Given the description of an element on the screen output the (x, y) to click on. 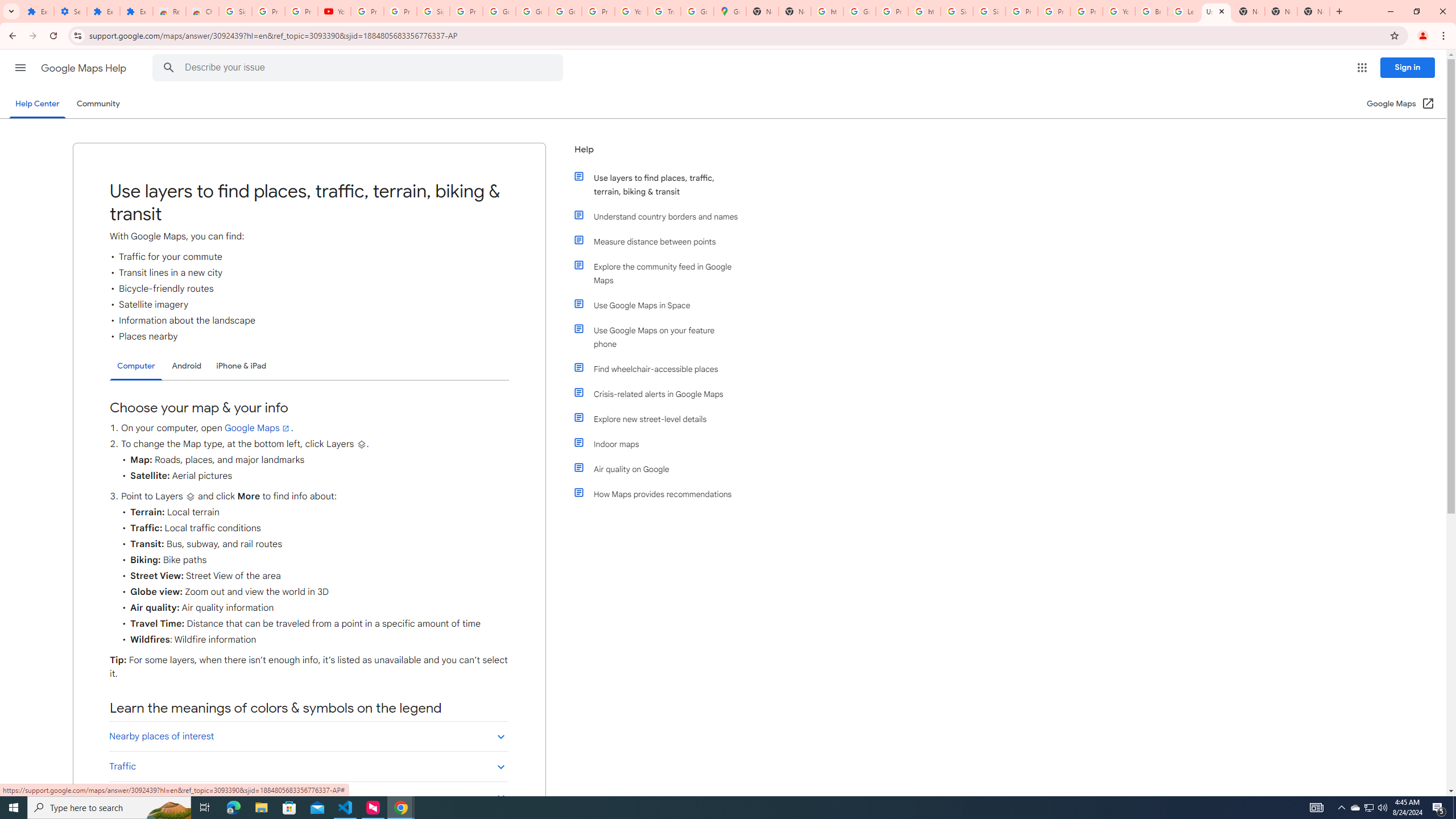
Chrome Web Store - Themes (202, 11)
Sign in - Google Accounts (989, 11)
